Given the description of an element on the screen output the (x, y) to click on. 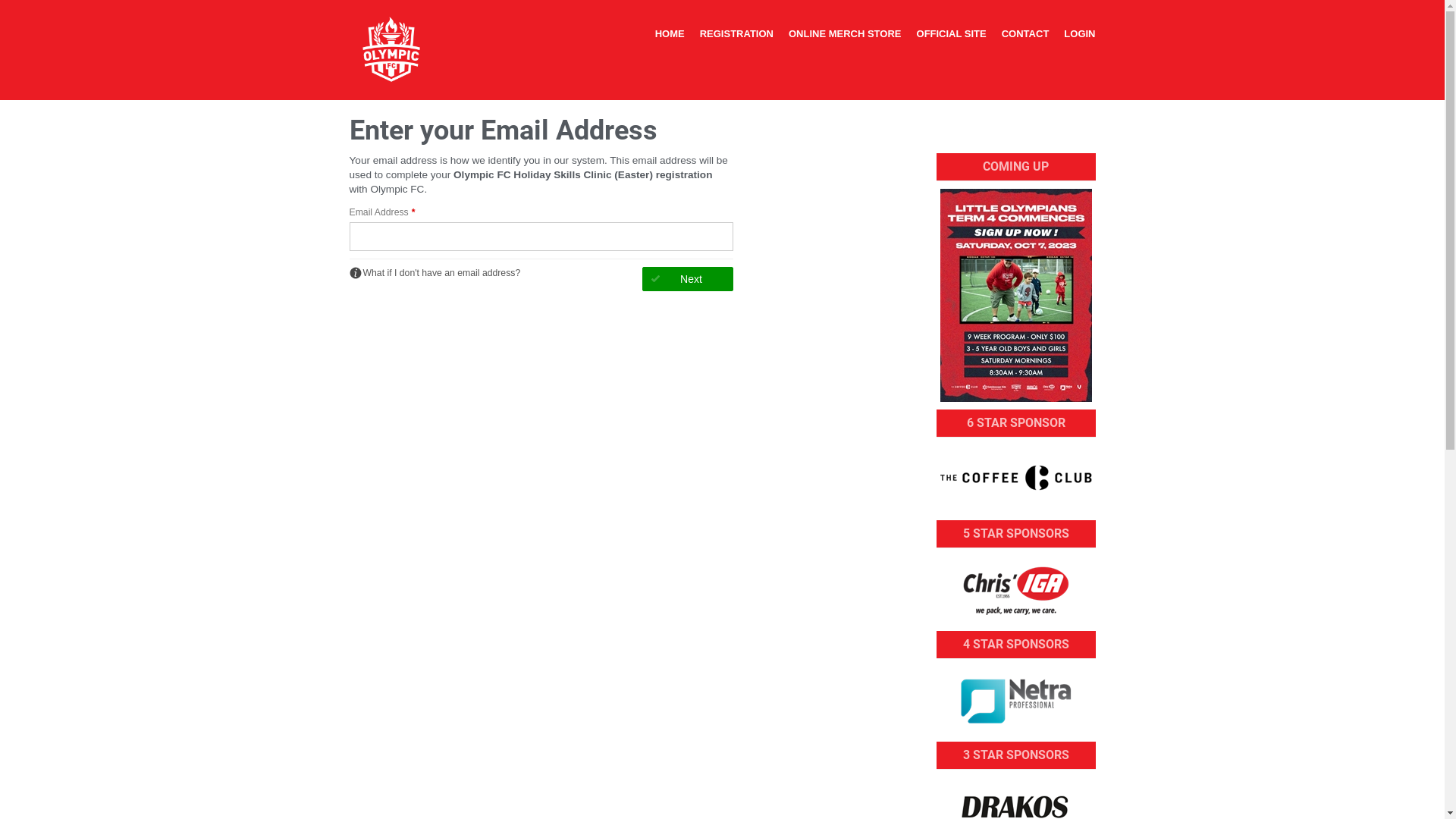
ONLINE MERCH STORE Element type: text (845, 34)
REGISTRATION Element type: text (736, 34)
What if I don't have an email address? Element type: text (434, 272)
CONTACT Element type: text (1025, 34)
LOGIN Element type: text (1079, 34)
HOME Element type: text (669, 34)
Next Element type: text (686, 278)
OFFICIAL SITE Element type: text (951, 34)
